Given the description of an element on the screen output the (x, y) to click on. 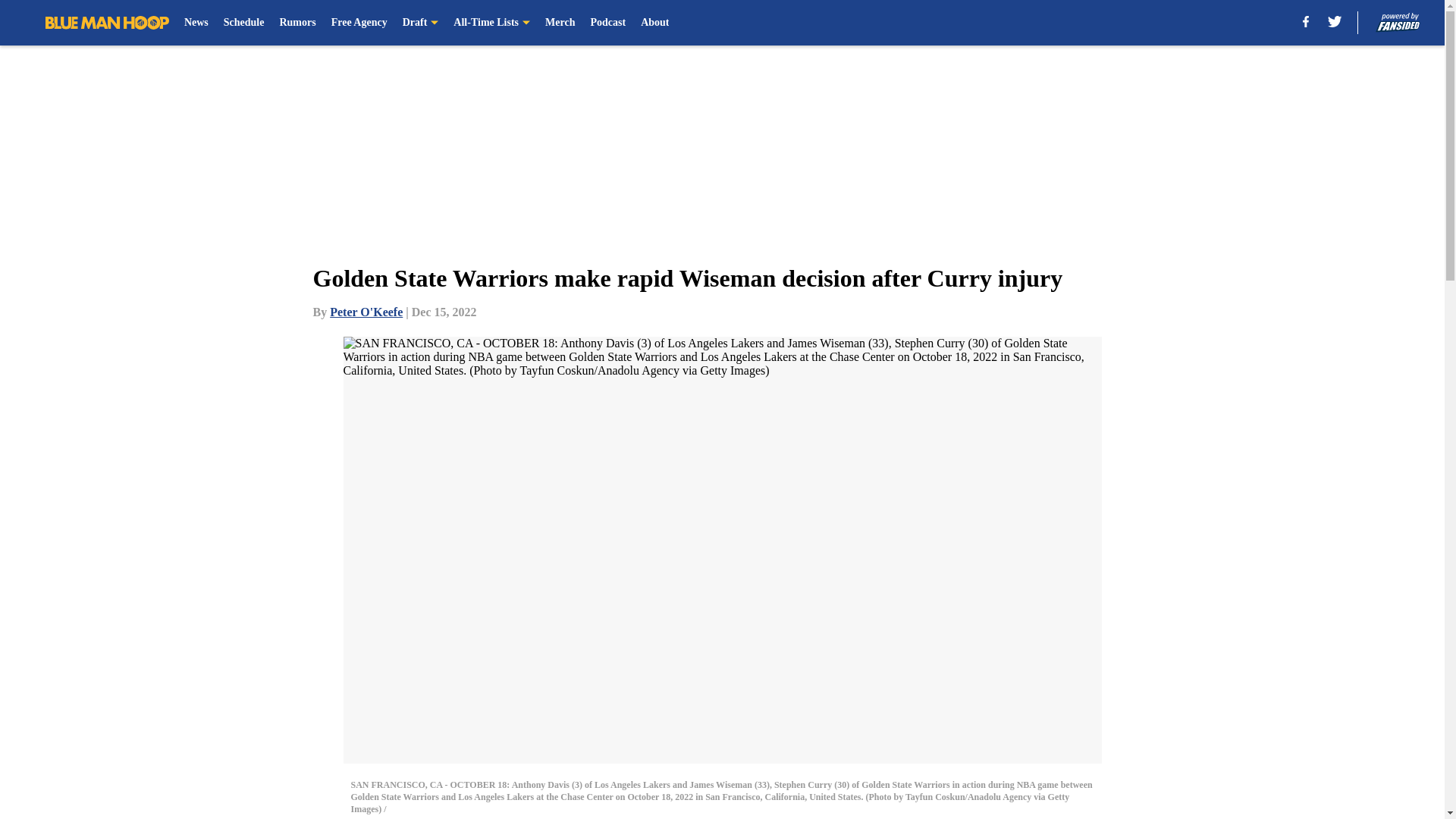
News (196, 22)
Peter O'Keefe (366, 311)
Rumors (297, 22)
Schedule (244, 22)
Free Agency (359, 22)
About (654, 22)
Draft (421, 22)
All-Time Lists (490, 22)
Podcast (607, 22)
Merch (559, 22)
